Given the description of an element on the screen output the (x, y) to click on. 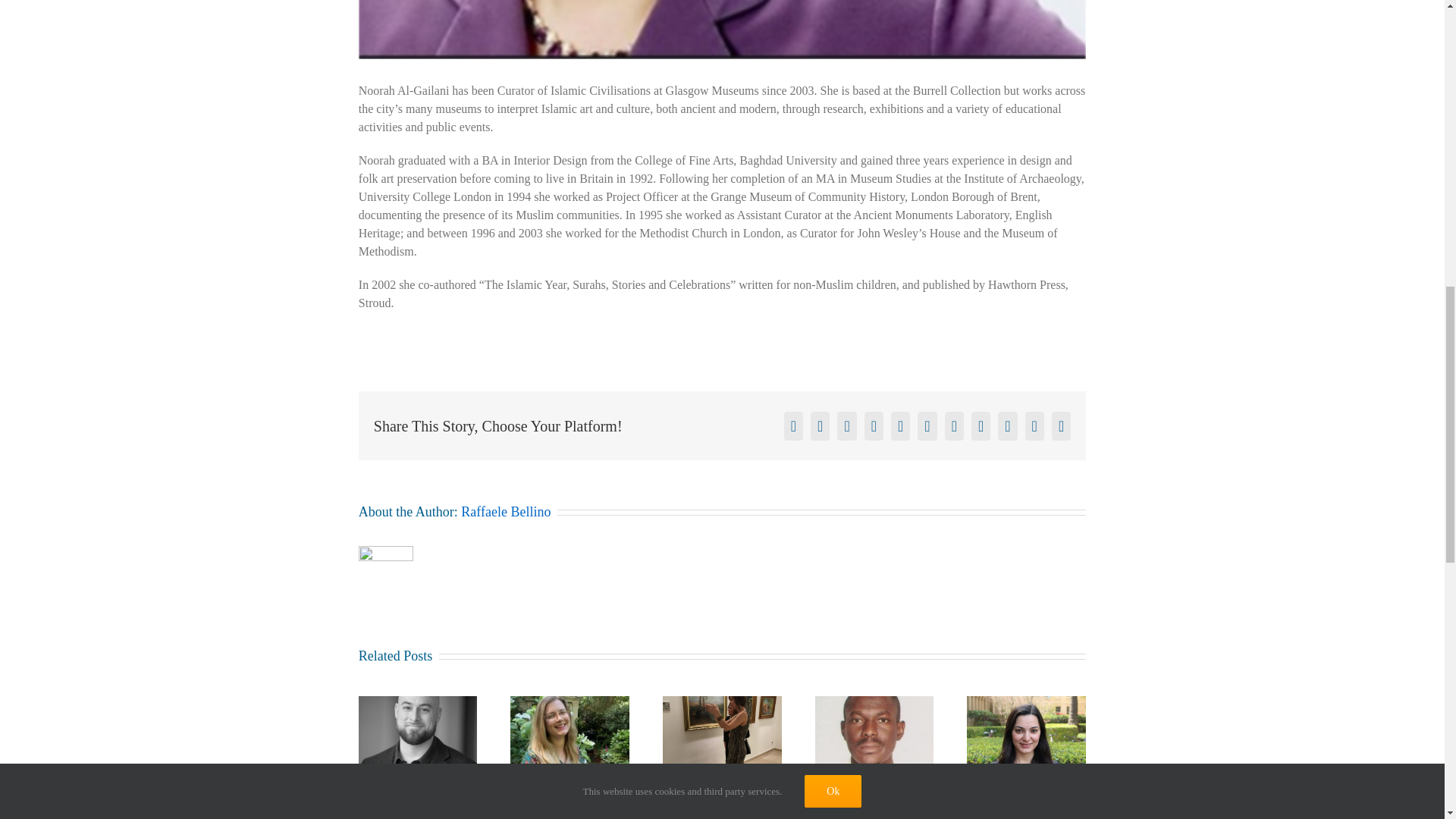
Posts by Raffaele Bellino (505, 511)
